Given the description of an element on the screen output the (x, y) to click on. 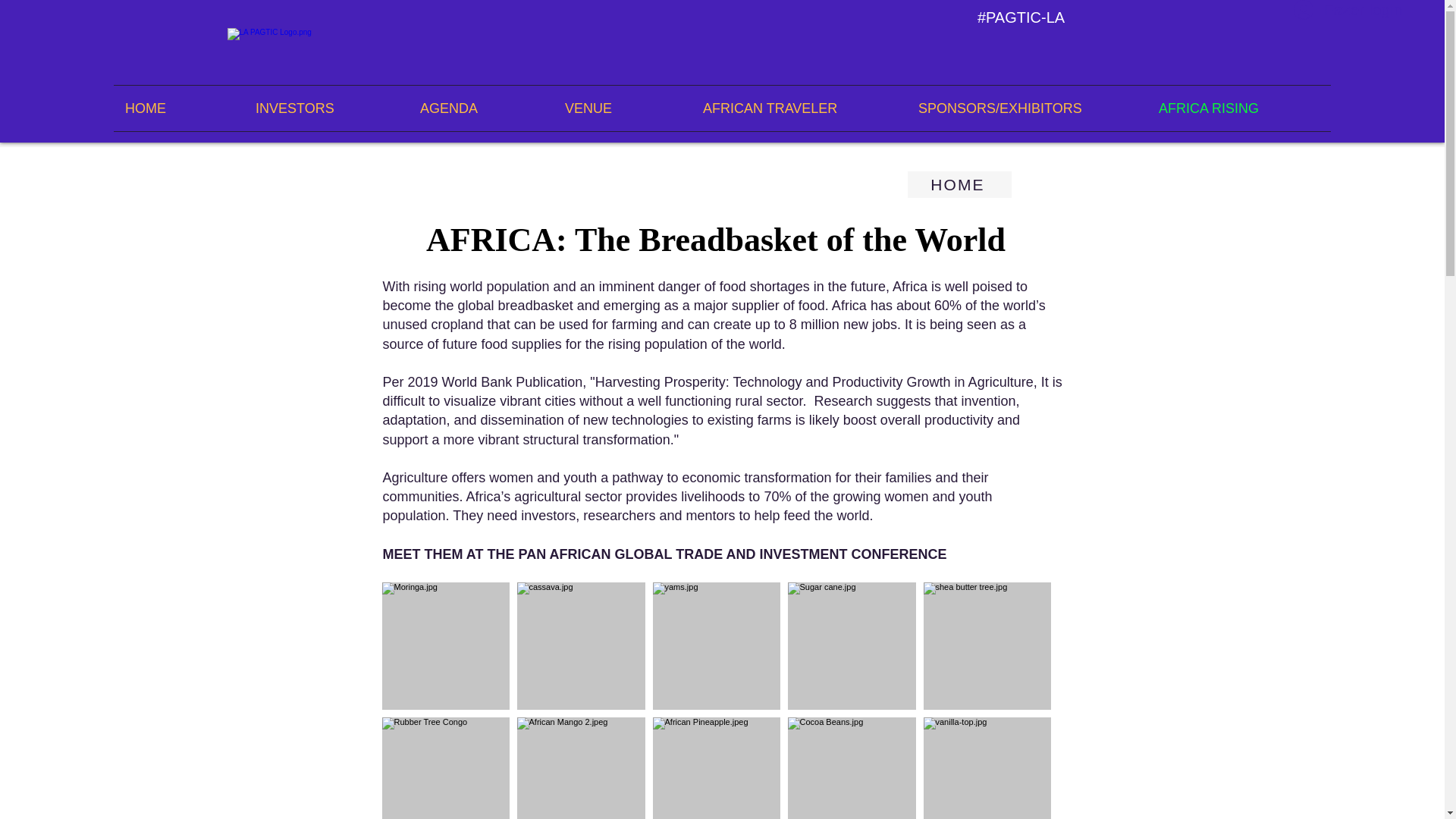
AFRICAN TRAVELER (799, 108)
AGENDA (481, 108)
AFRICA RISING (1238, 108)
VENUE (622, 108)
INVESTORS (326, 108)
HOME (178, 108)
Fazer login (1320, 12)
HOME (958, 184)
